Given the description of an element on the screen output the (x, y) to click on. 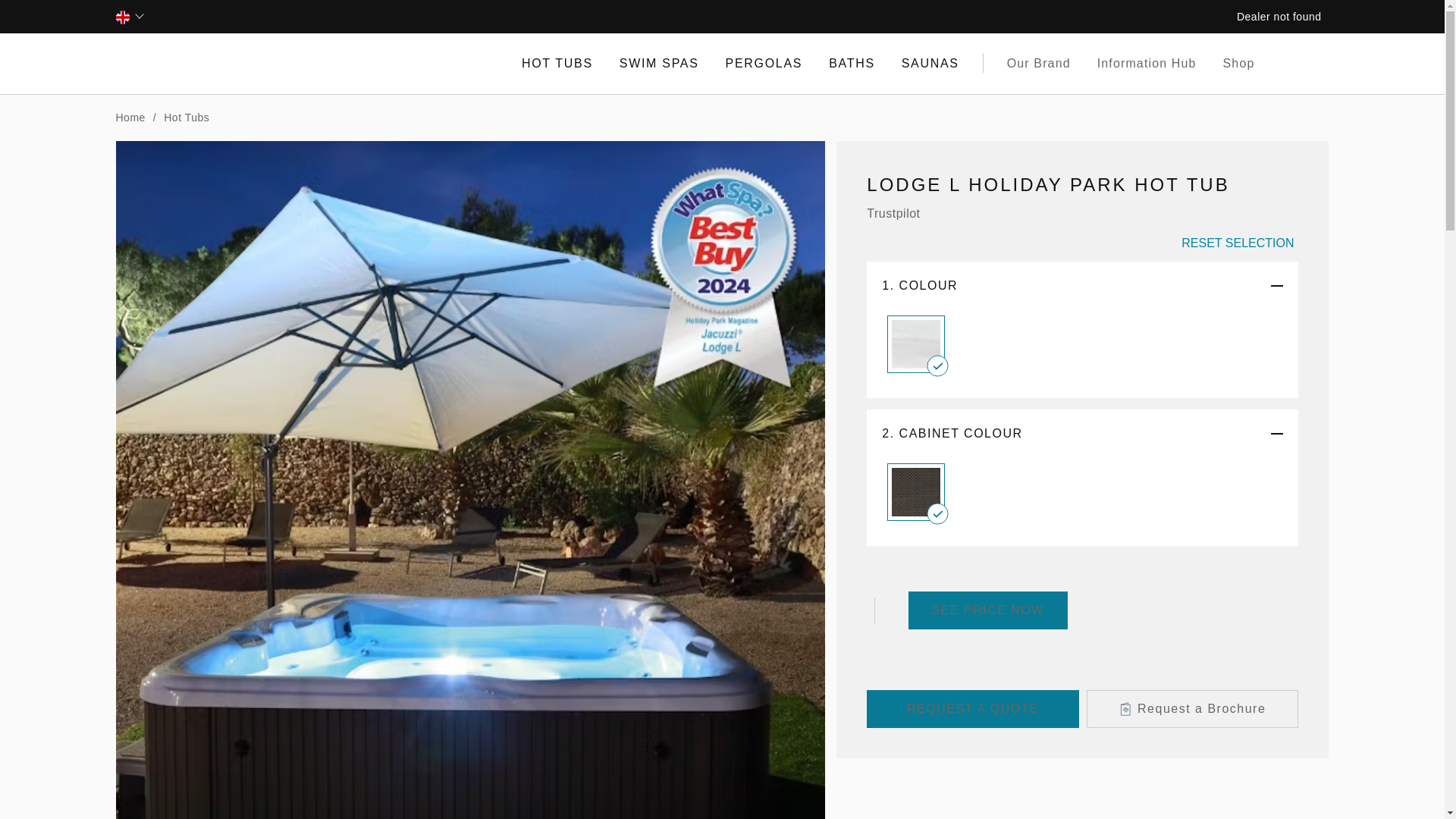
Open to request a quote (972, 709)
Open to unlock product pricing form in a pop up (987, 610)
